Given the description of an element on the screen output the (x, y) to click on. 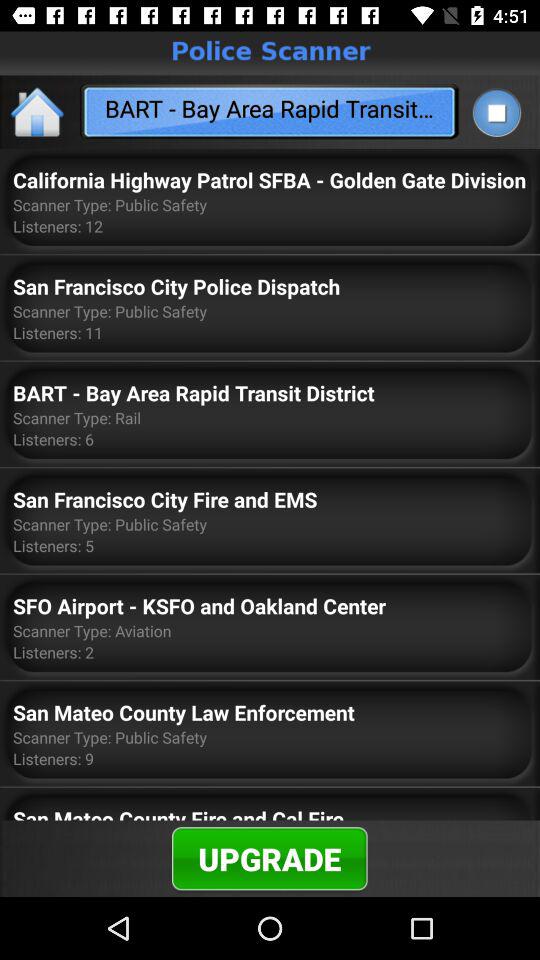
press the icon above california highway patrol (496, 111)
